Given the description of an element on the screen output the (x, y) to click on. 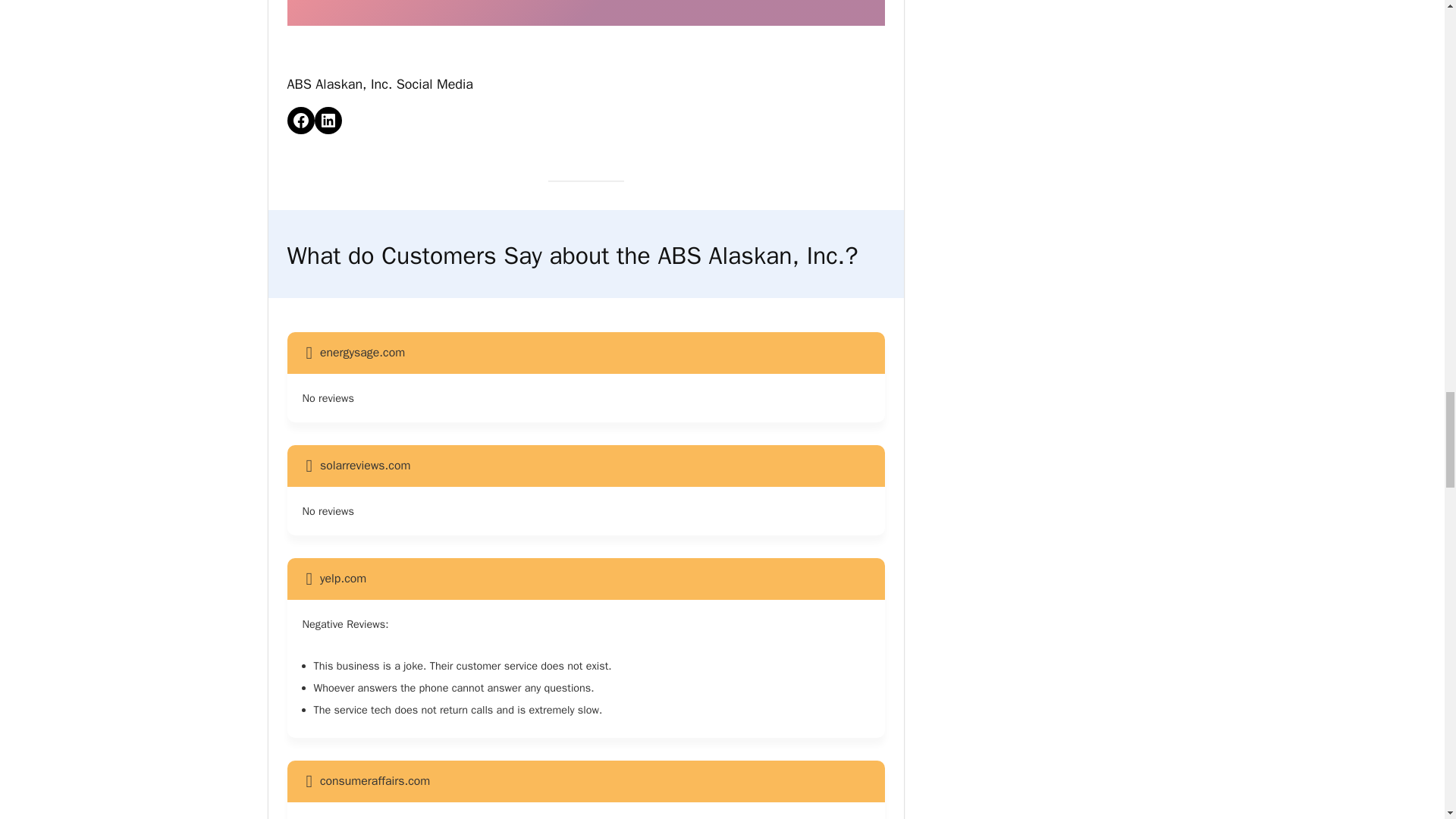
ABS Alaskan, Inc. review 1 (584, 12)
